Given the description of an element on the screen output the (x, y) to click on. 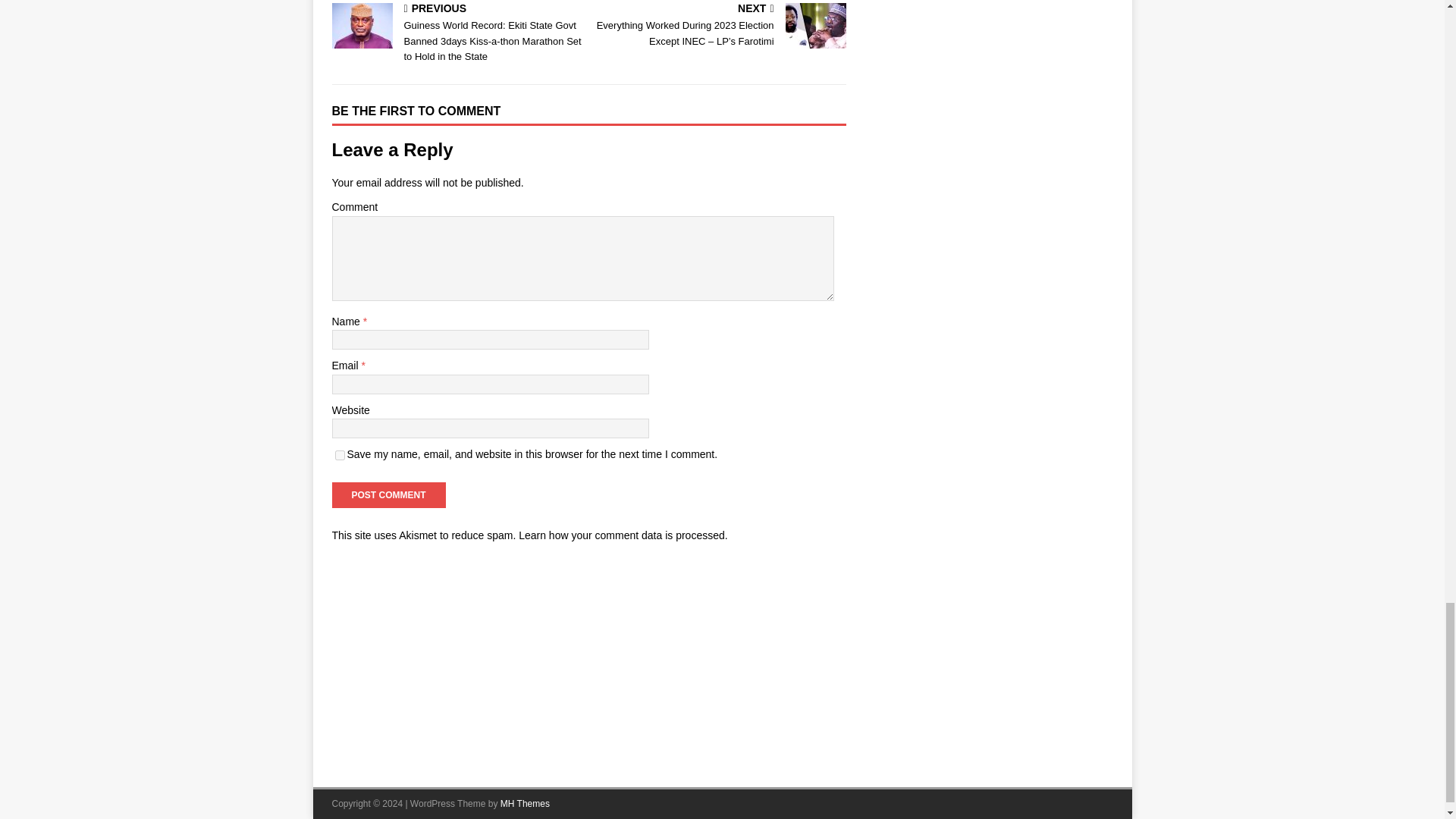
Learn how your comment data is processed (621, 535)
Post Comment (388, 494)
yes (339, 455)
Post Comment (388, 494)
